Given the description of an element on the screen output the (x, y) to click on. 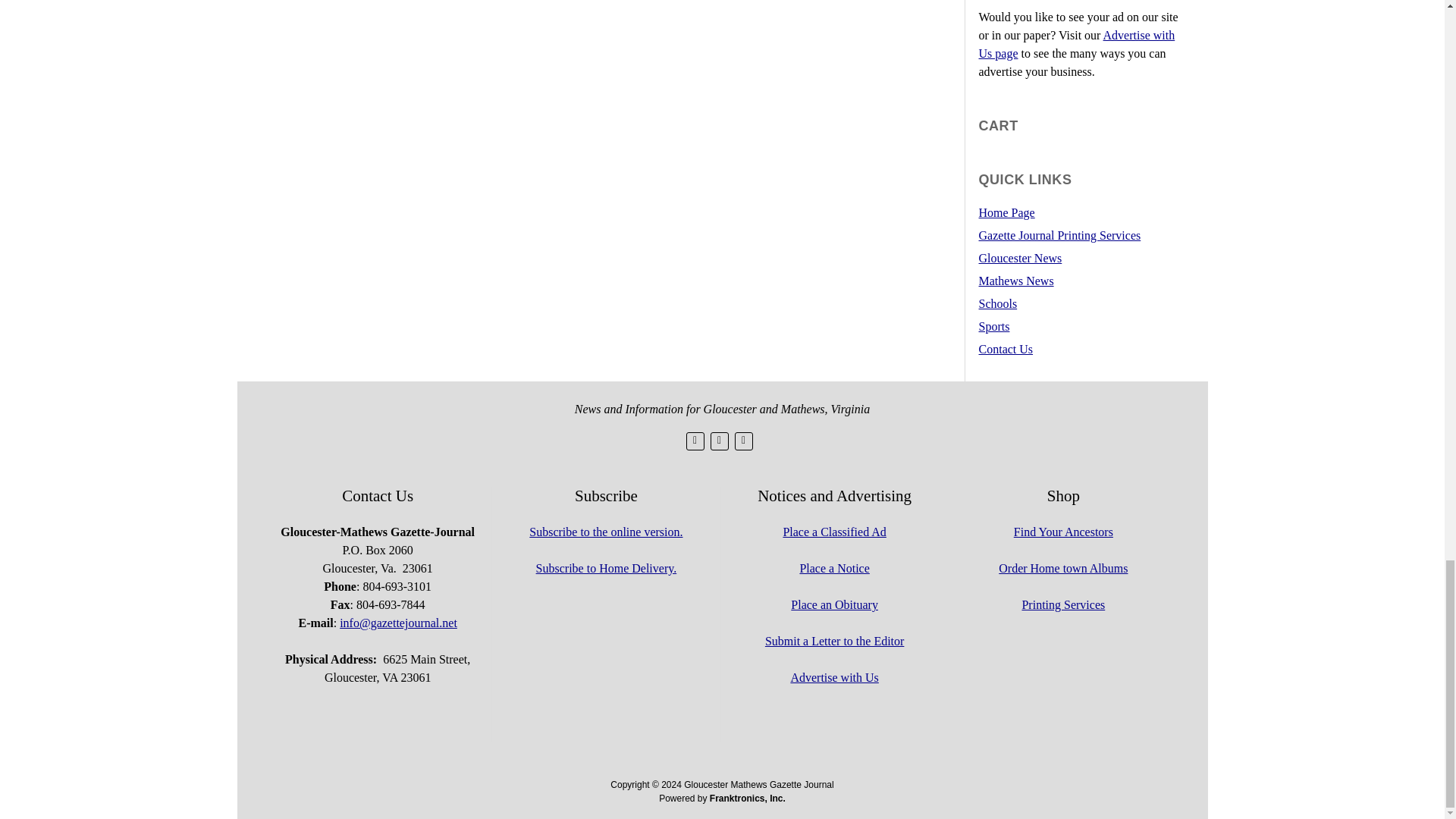
twitter (694, 441)
instagram (742, 441)
facebook (719, 441)
